Given the description of an element on the screen output the (x, y) to click on. 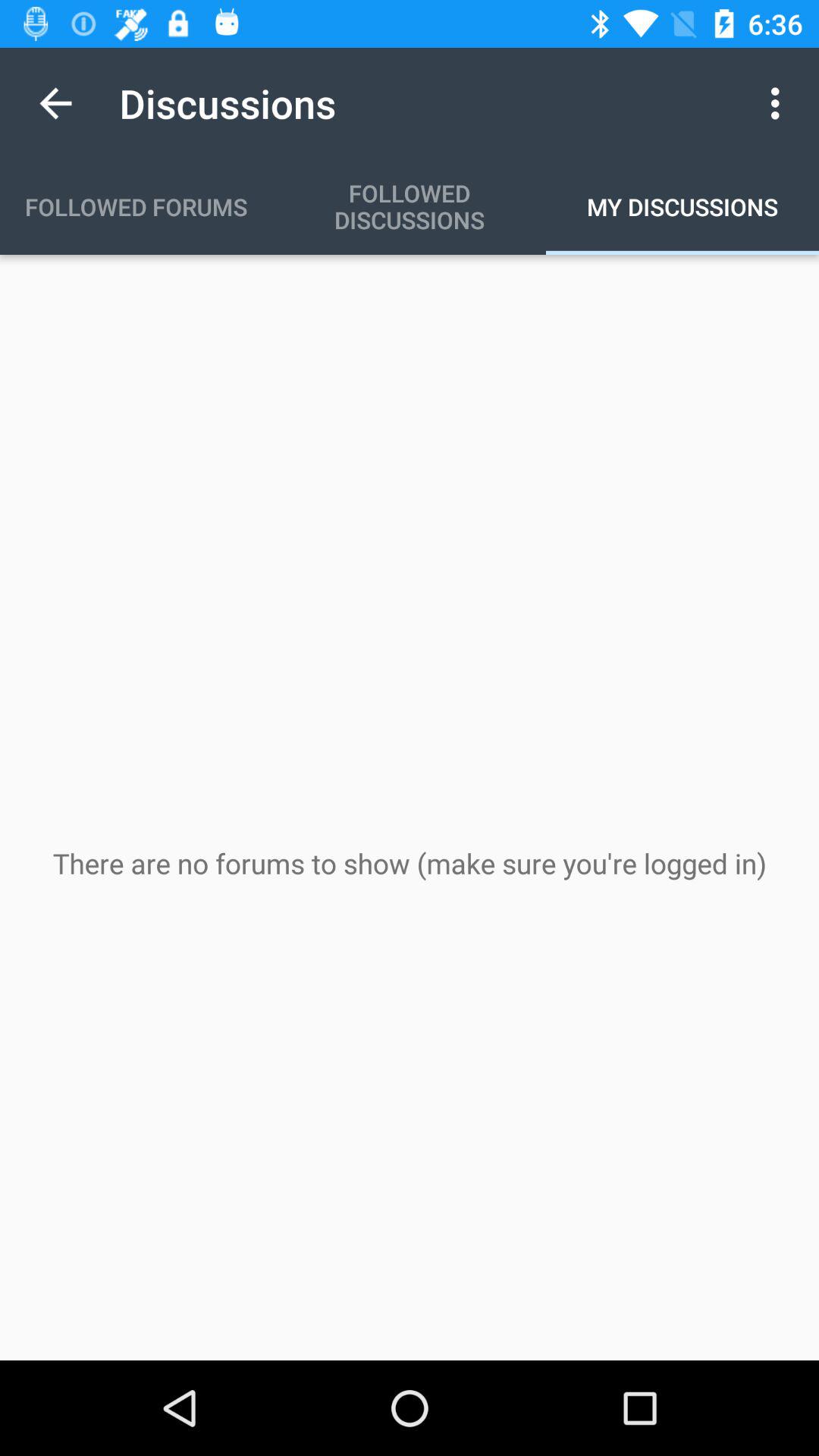
choose icon next to the discussions (779, 103)
